Given the description of an element on the screen output the (x, y) to click on. 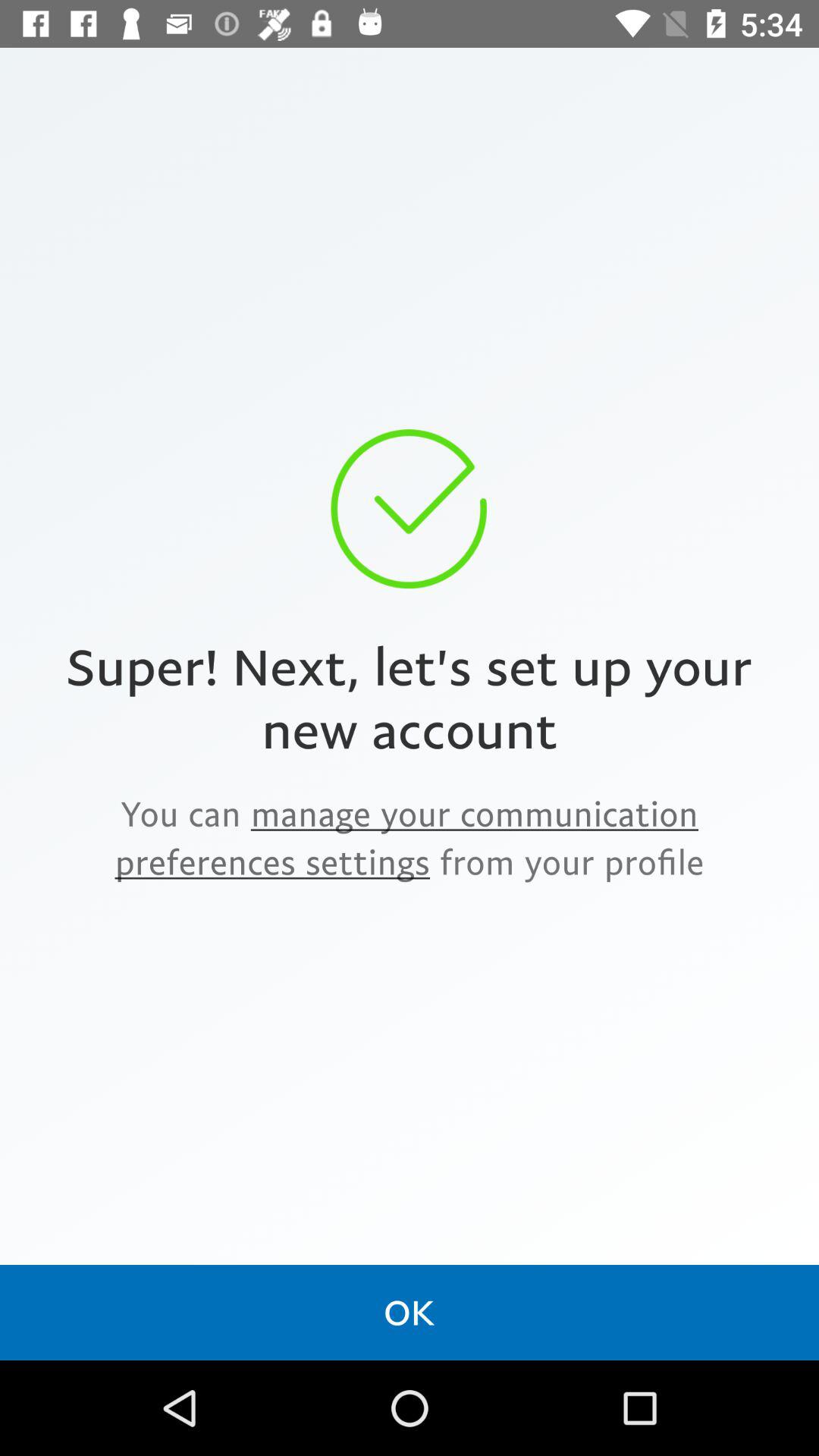
launch the item below you can manage (409, 1312)
